Given the description of an element on the screen output the (x, y) to click on. 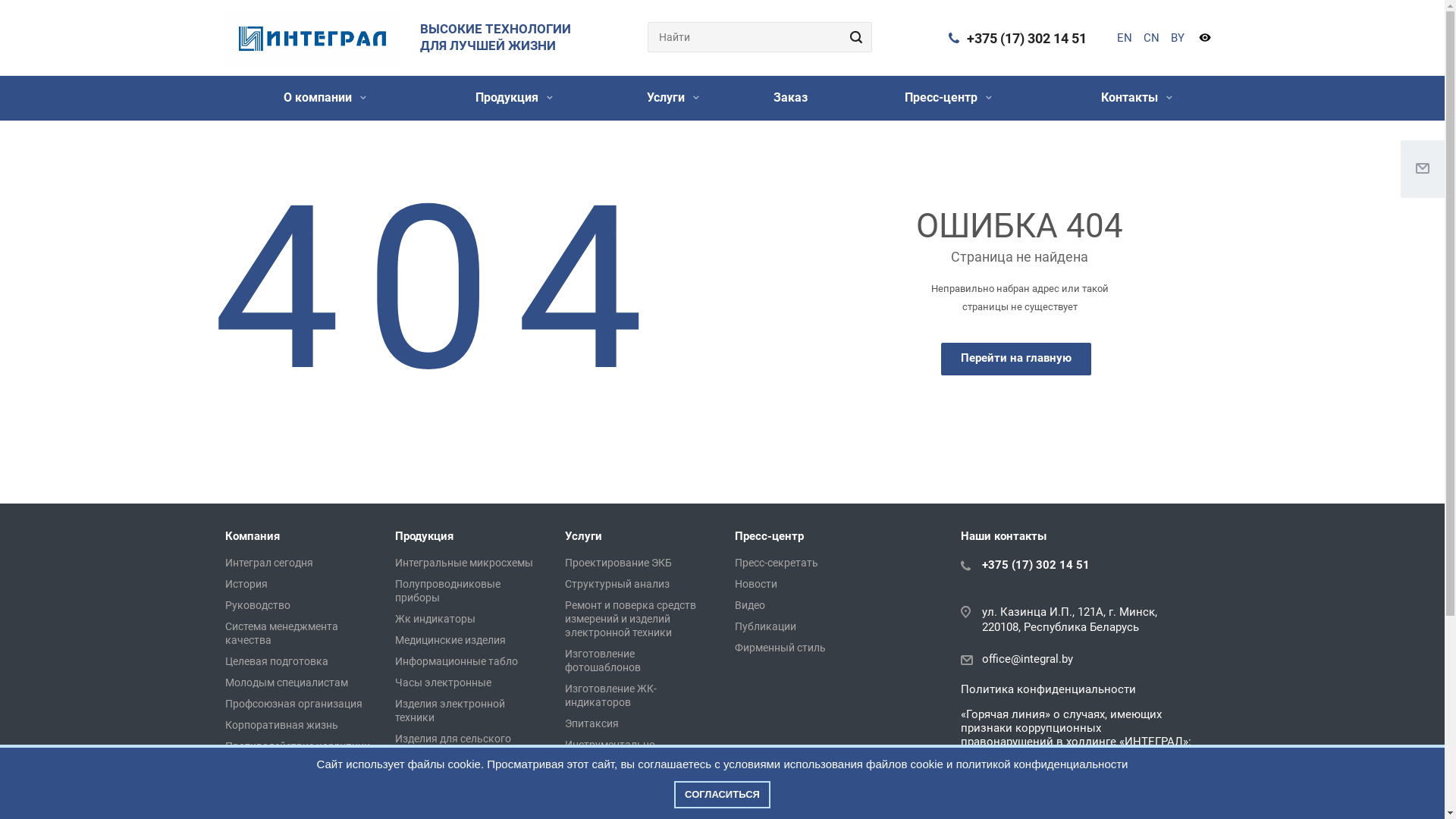
office@integral.by Element type: text (1027, 658)
EN Element type: text (1123, 37)
BY Element type: text (1177, 37)
+375 (17) 302 14 51 Element type: text (1035, 564)
CN Element type: text (1151, 37)
integral.by Element type: hover (311, 38)
+375 (17) 302 14 51 Element type: text (1025, 38)
